Given the description of an element on the screen output the (x, y) to click on. 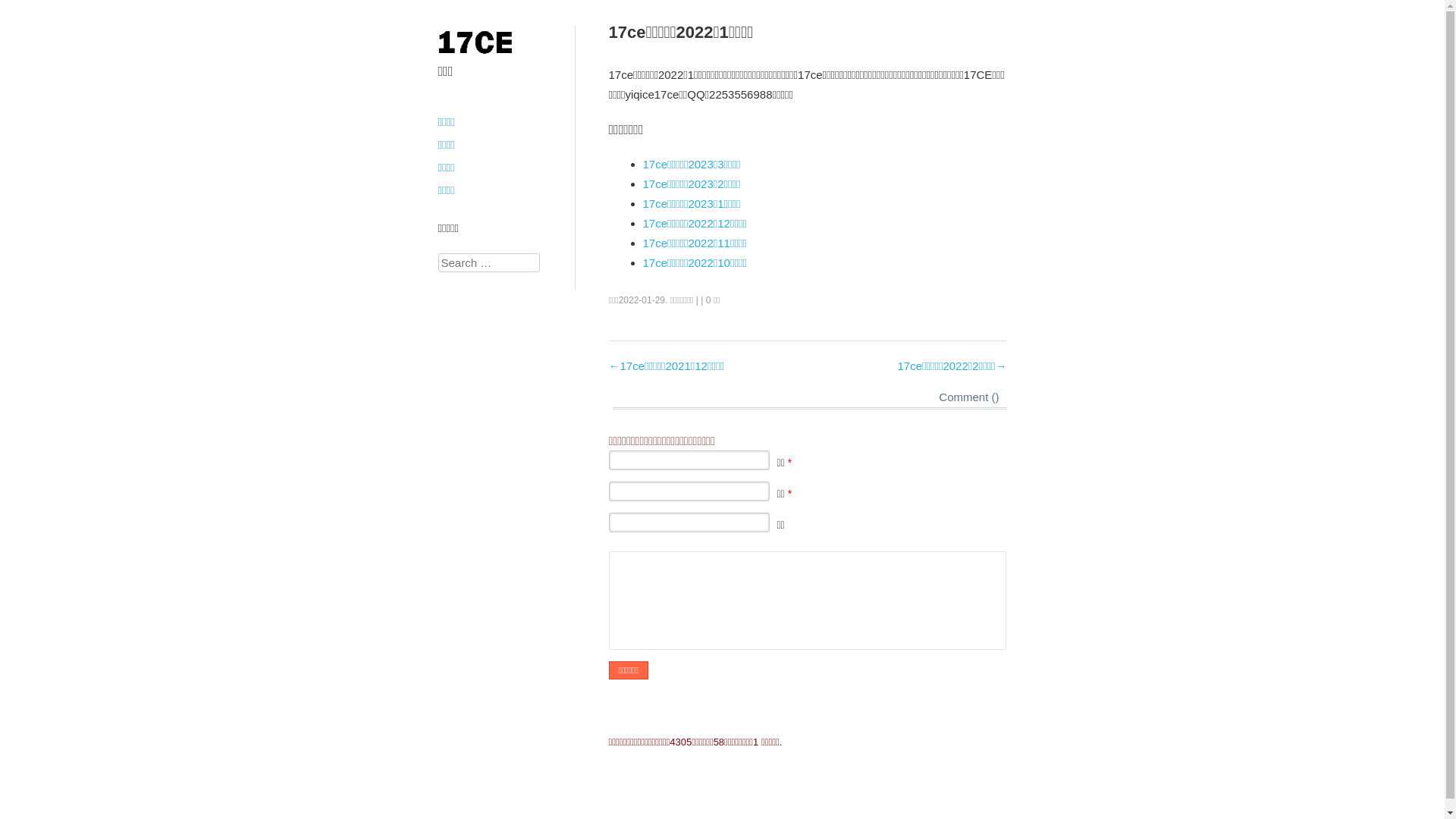
Search Element type: text (24, 8)
